Given the description of an element on the screen output the (x, y) to click on. 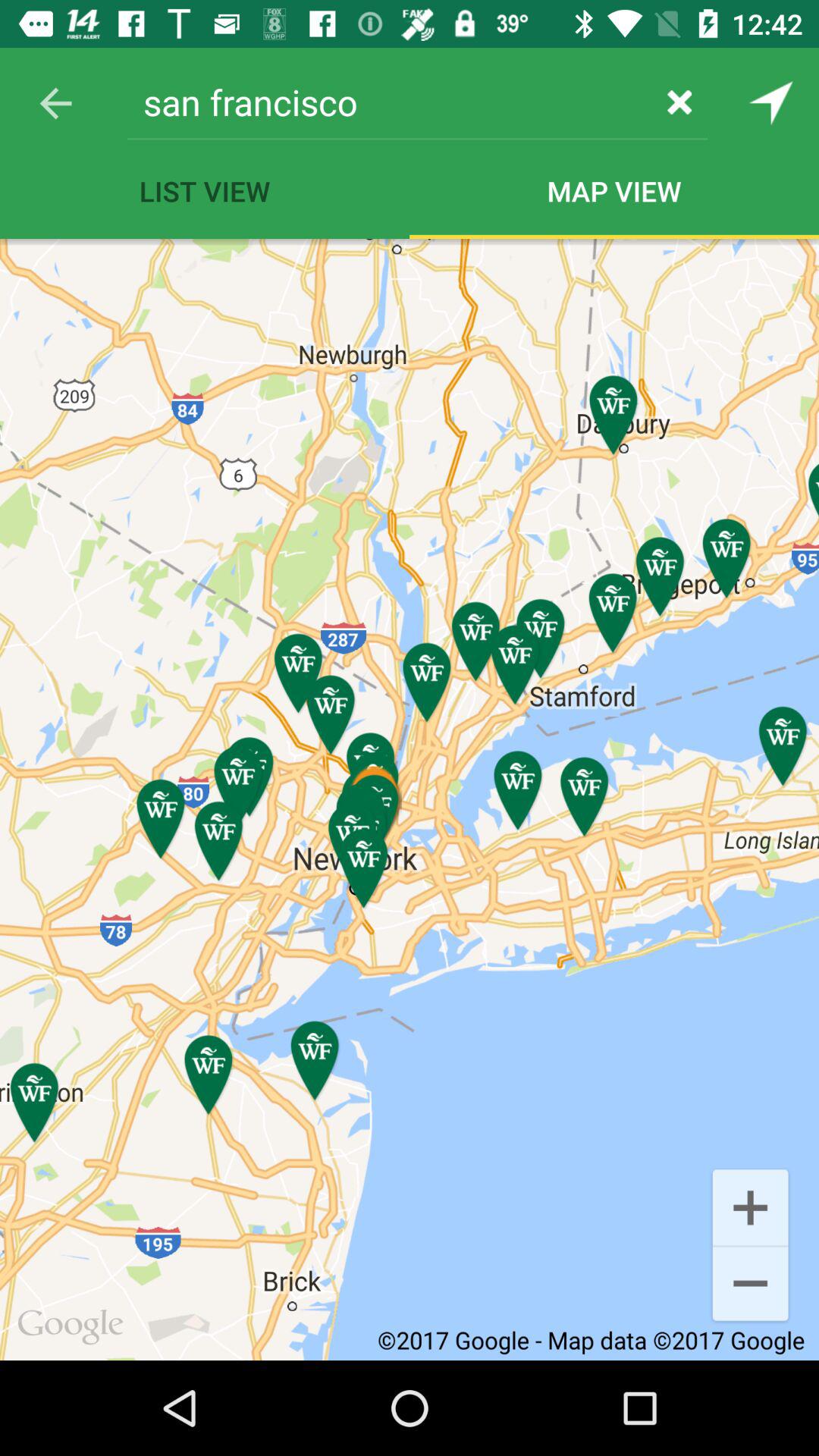
open the item next to san francisco icon (55, 103)
